Given the description of an element on the screen output the (x, y) to click on. 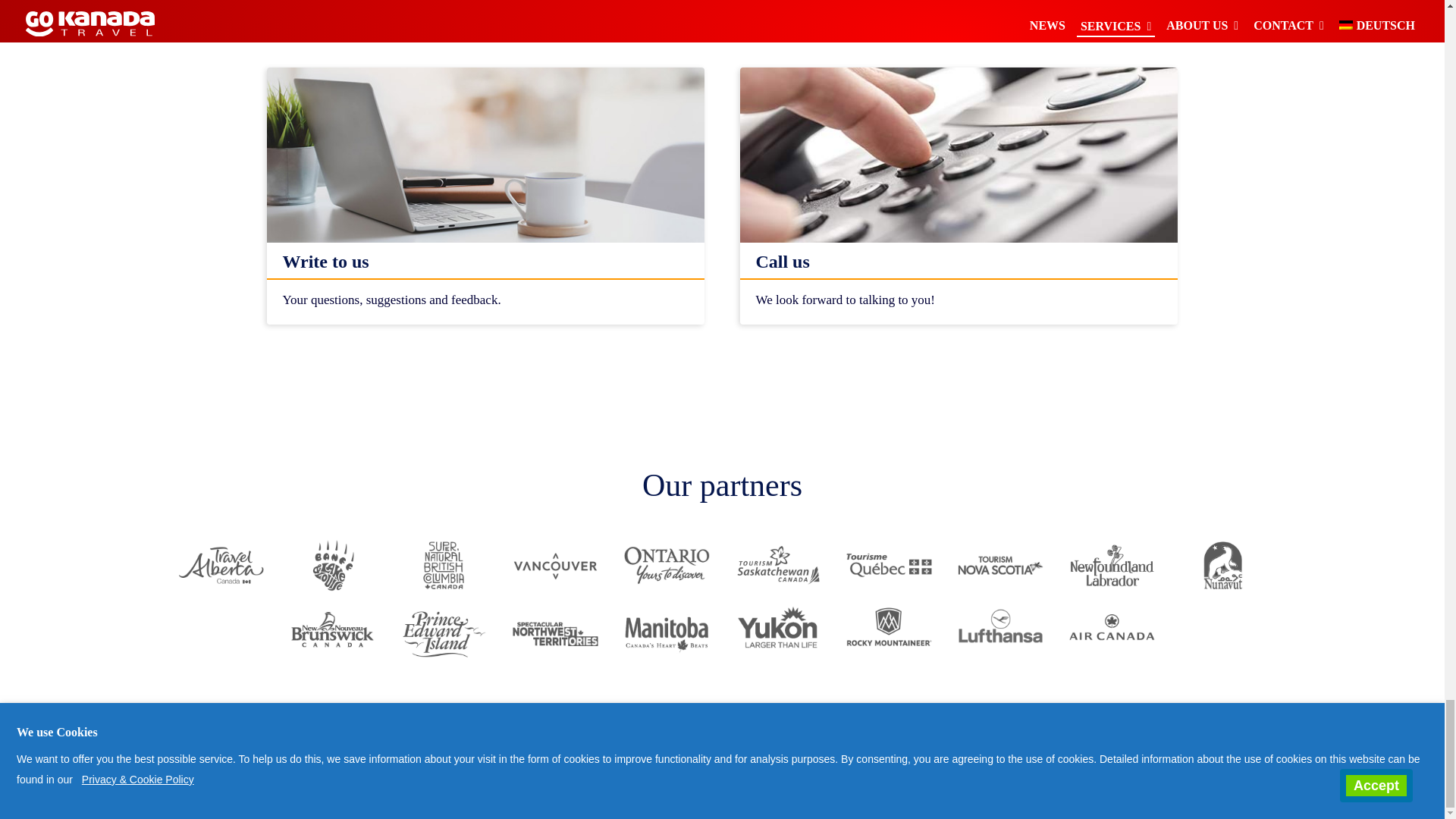
GKT Horizontal logo Master (79, 798)
